Given the description of an element on the screen output the (x, y) to click on. 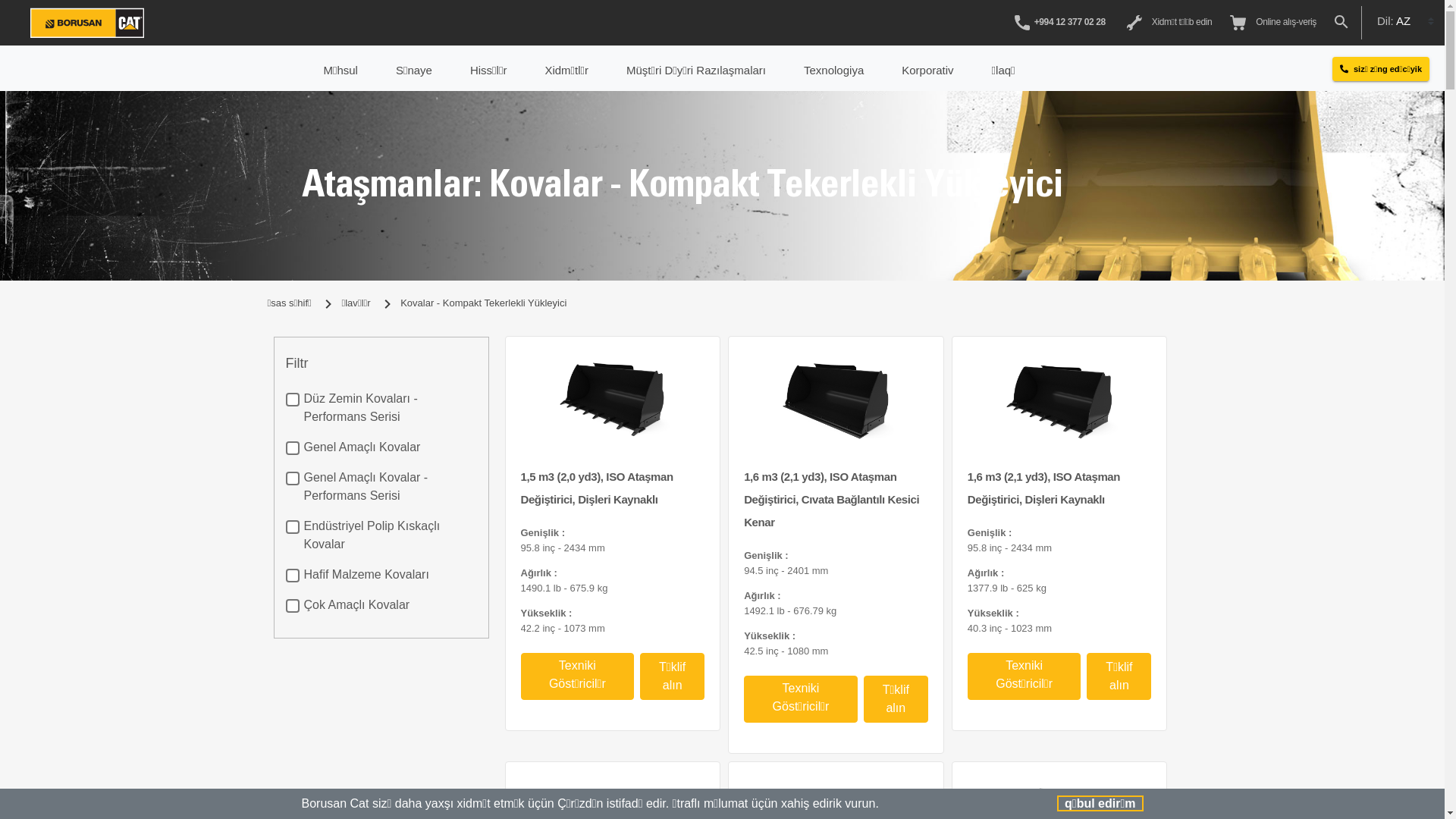
+994 12 377 02 28 Element type: text (1060, 24)
Borusan/Cat Element type: hover (87, 22)
